Given the description of an element on the screen output the (x, y) to click on. 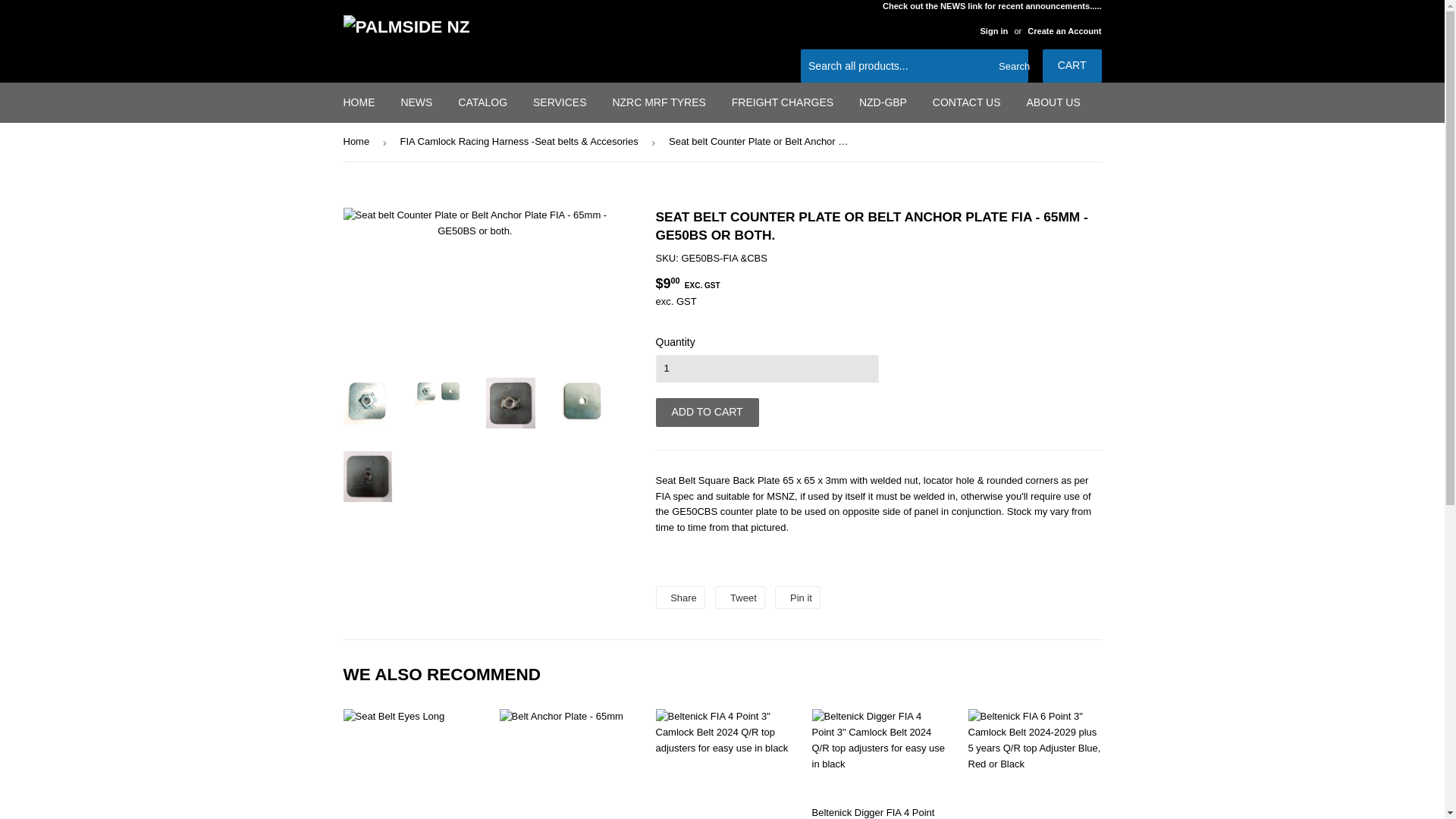
1 (766, 368)
Pin on Pinterest (797, 597)
Check out the NEWS link for recent announcements..... (992, 18)
Sign in (993, 31)
CART (1072, 65)
Tweet on Twitter (739, 597)
ADD TO CART (706, 412)
NEWS (416, 102)
CONTACT US (966, 102)
NZRC MRF TYRES (657, 102)
Create an Account (1063, 31)
ABOUT US (1052, 102)
SERVICES (559, 102)
NZD-GBP (679, 597)
